Given the description of an element on the screen output the (x, y) to click on. 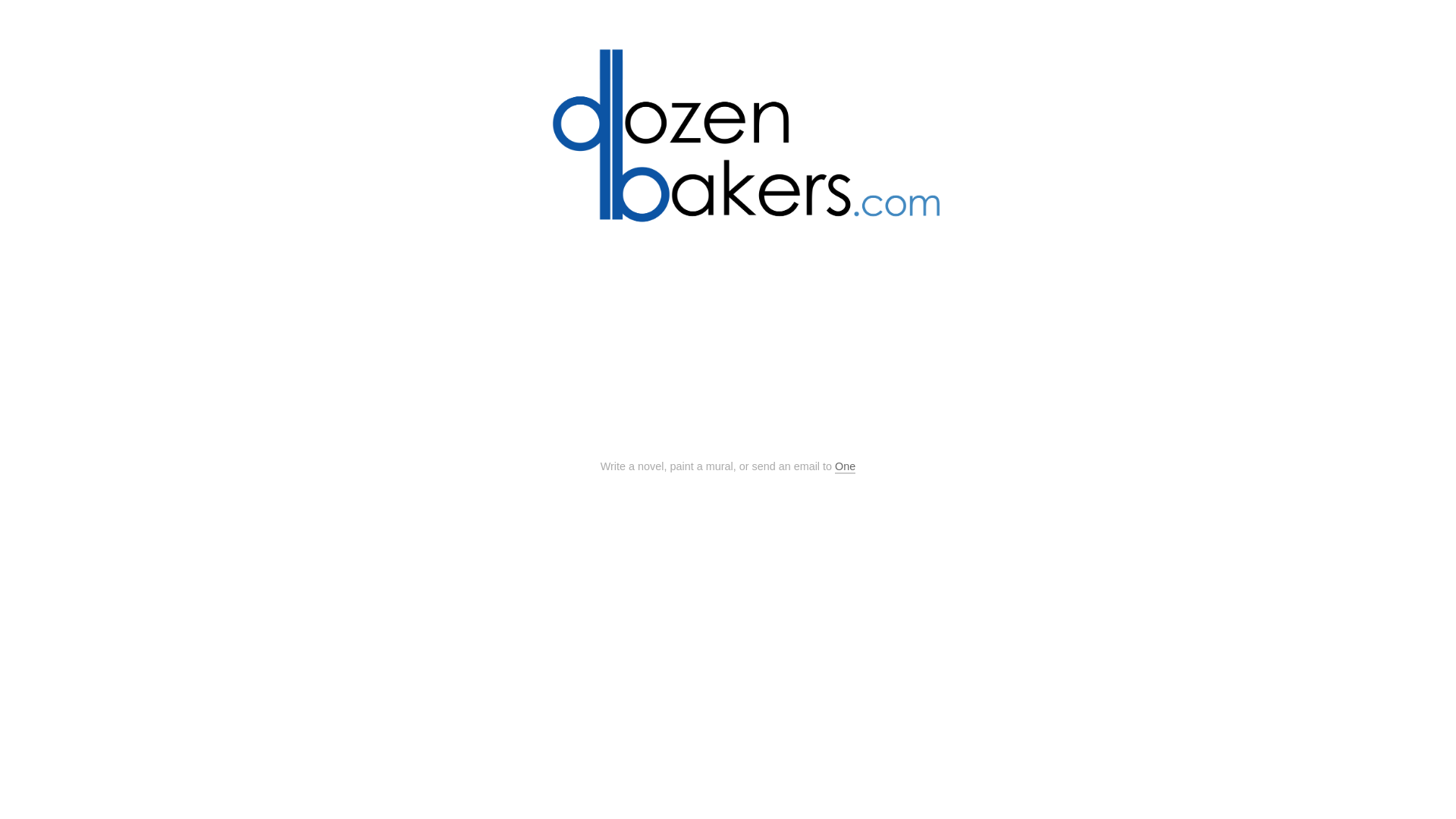
dozenbakers.com Element type: hover (727, 149)
One Element type: text (844, 466)
